Given the description of an element on the screen output the (x, y) to click on. 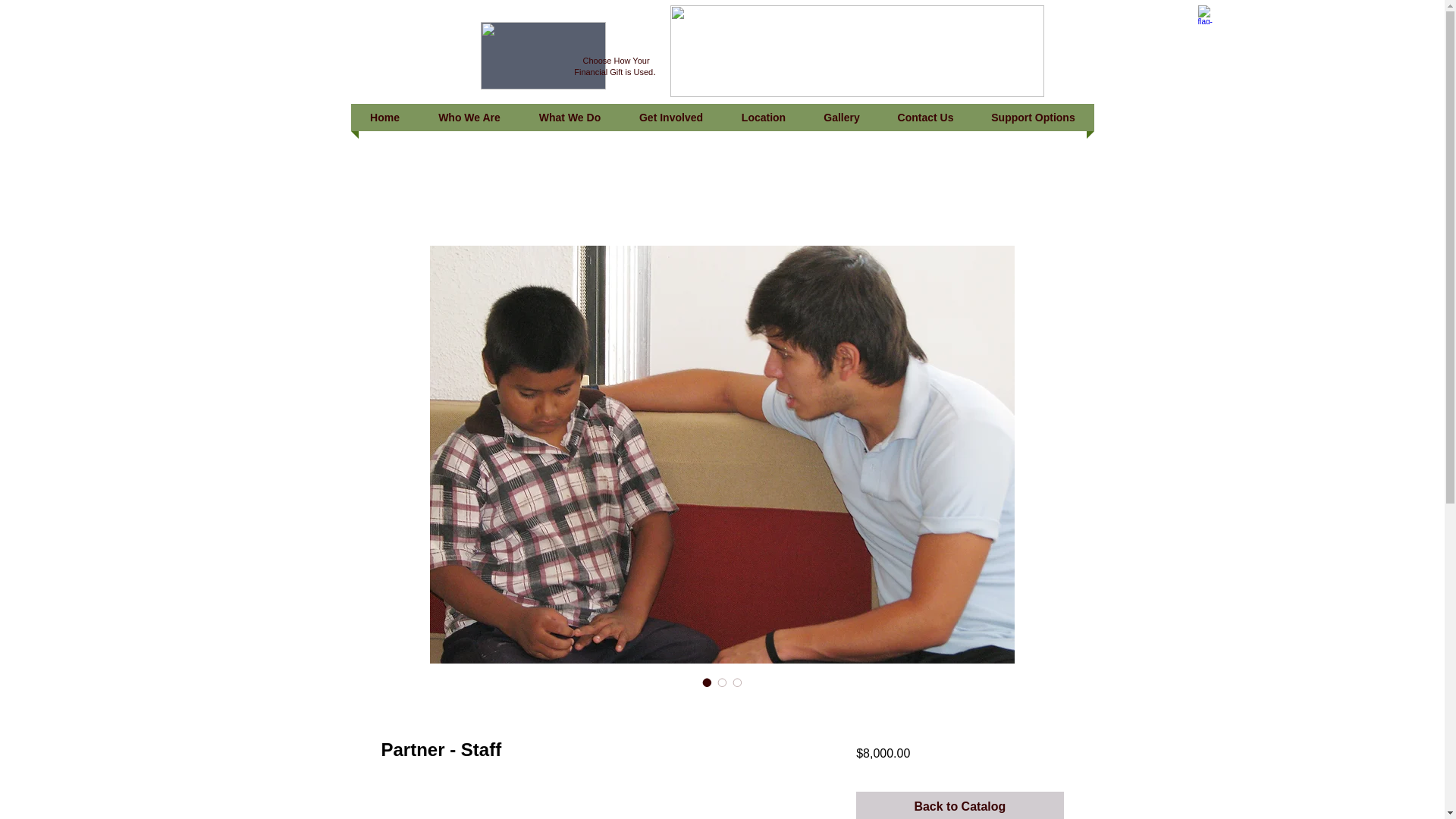
Gallery (842, 117)
Contact Us (924, 117)
Get Involved (671, 117)
Home (384, 117)
Location (763, 117)
Support Options (1032, 117)
Back to Catalog (959, 805)
What We Do (569, 117)
Who We Are (469, 117)
